Given the description of an element on the screen output the (x, y) to click on. 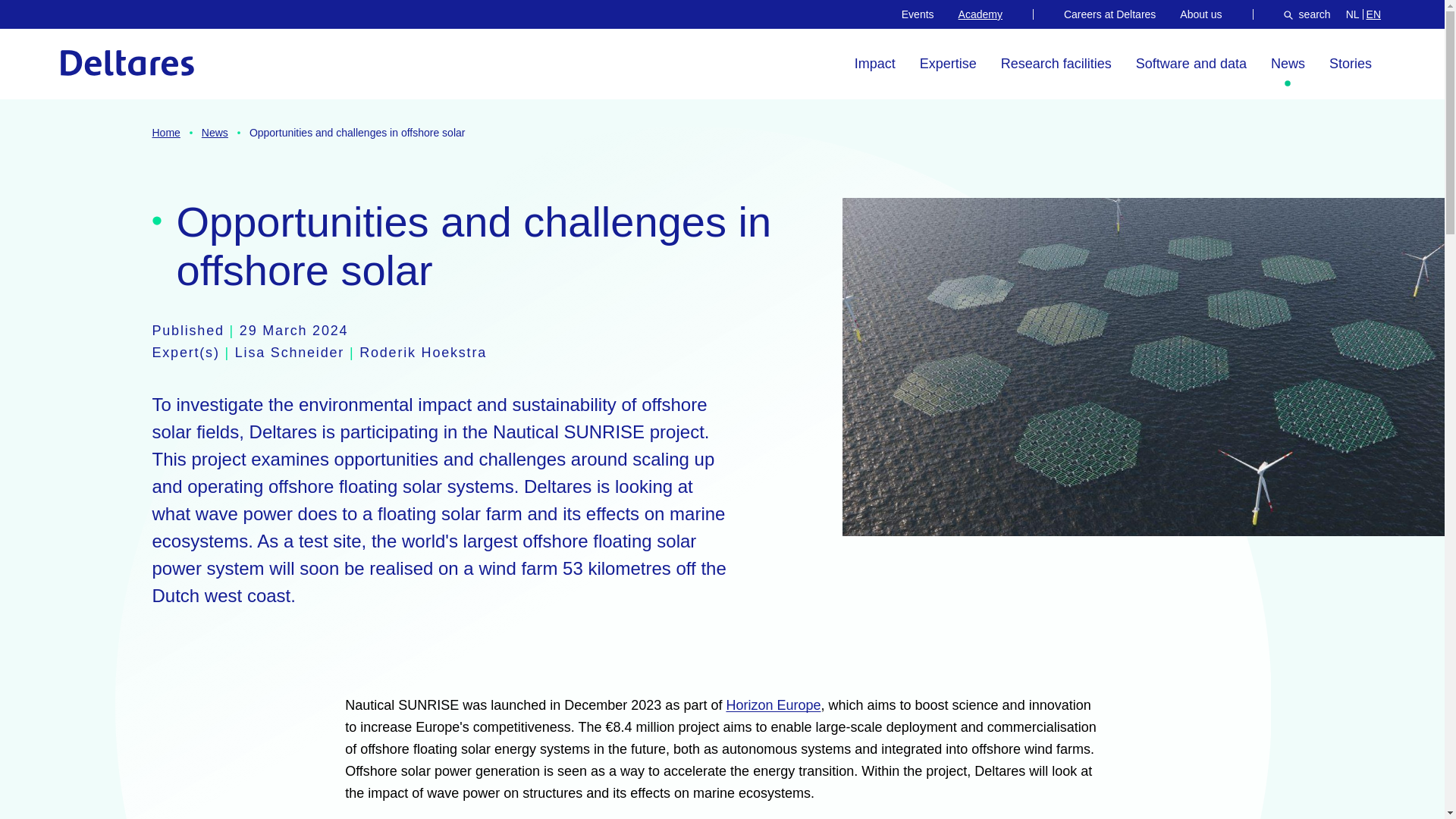
About us (1200, 14)
Expertise (948, 64)
Impact (874, 64)
Software and data (1190, 64)
To the homepage (127, 62)
Naar hoofdcontent (84, 22)
Research facilities (1056, 64)
Naar hoofdcontent (84, 22)
search (1307, 14)
Events (917, 14)
